Given the description of an element on the screen output the (x, y) to click on. 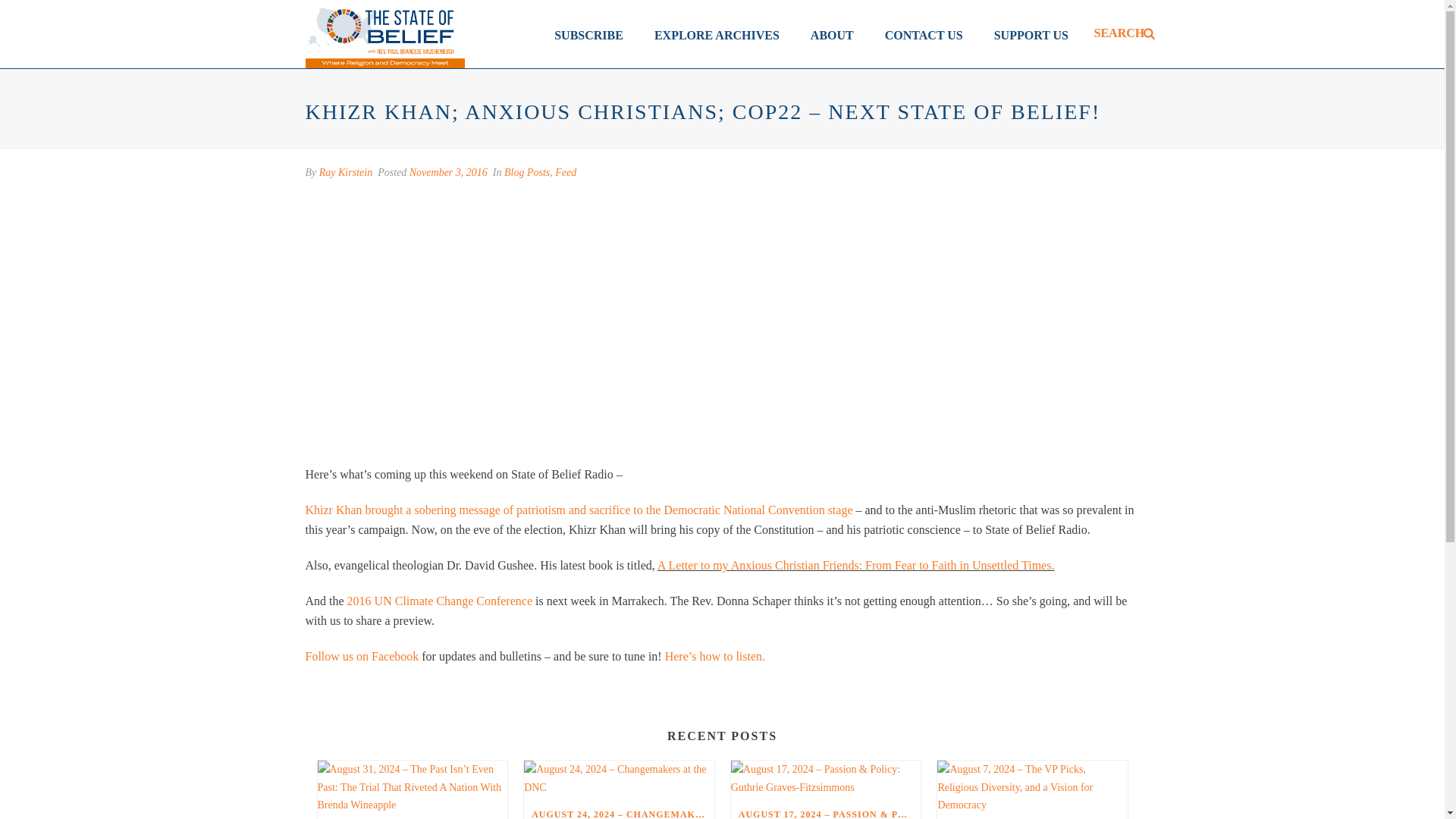
November 3, 2016 (448, 172)
Blog Posts (526, 172)
SUPPORT US (1030, 33)
EXPLORE ARCHIVES (716, 33)
SUPPORT US (1030, 33)
SUBSCRIBE (588, 33)
ABOUT (831, 33)
Where Religion and Democracy Meet (384, 33)
